Given the description of an element on the screen output the (x, y) to click on. 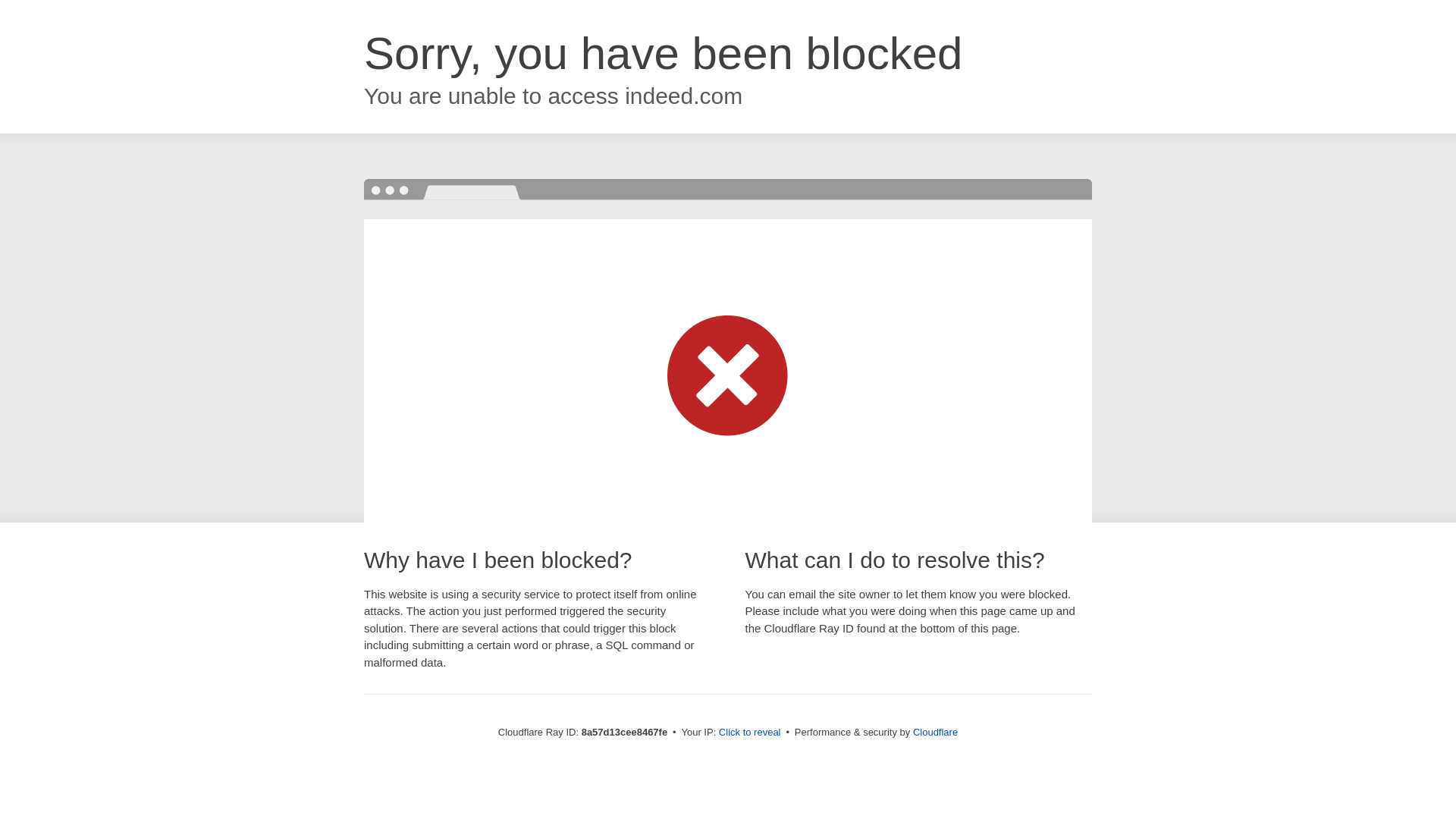
Cloudflare (935, 731)
Click to reveal (749, 732)
